Given the description of an element on the screen output the (x, y) to click on. 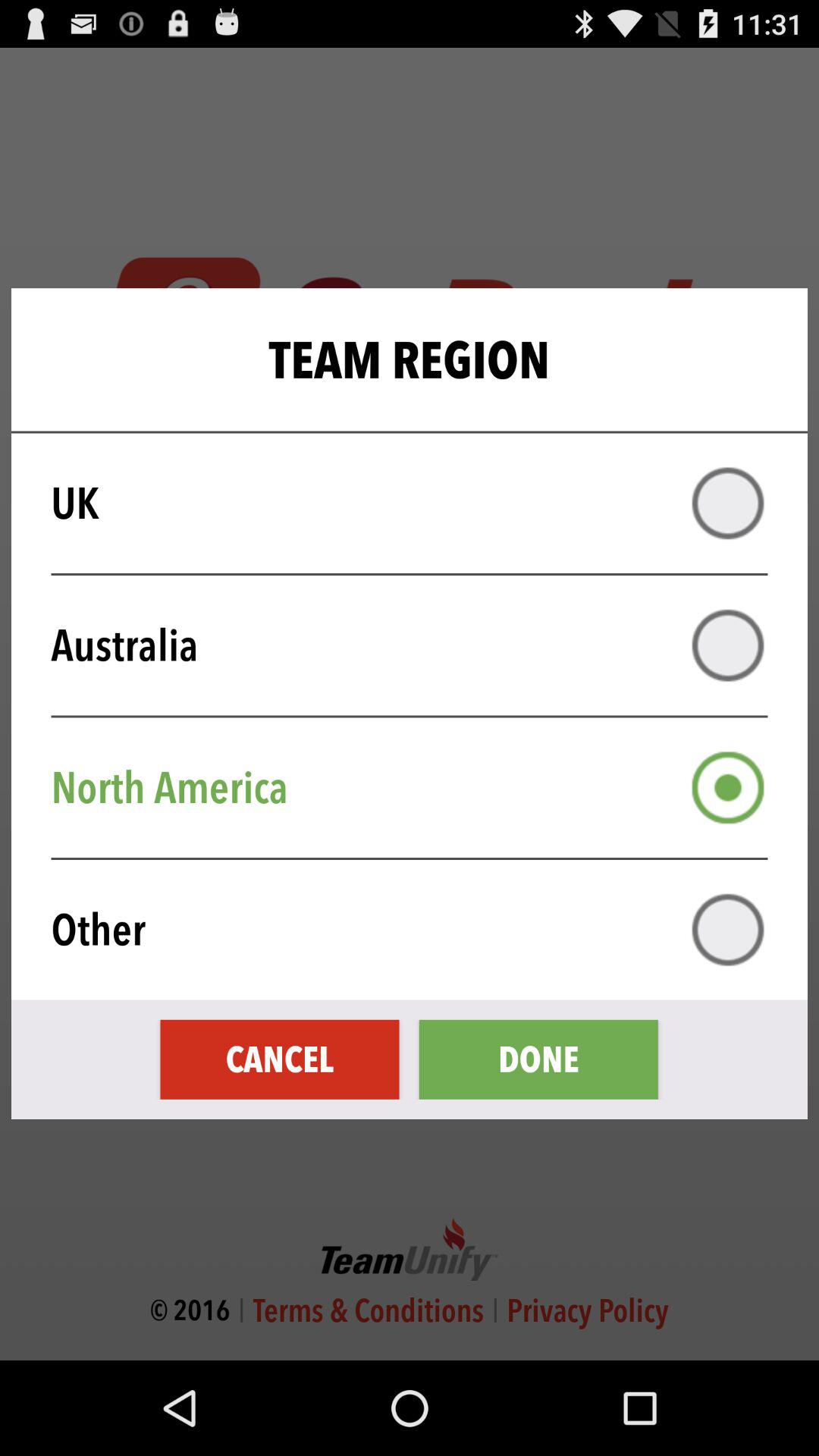
north america (727, 787)
